Given the description of an element on the screen output the (x, y) to click on. 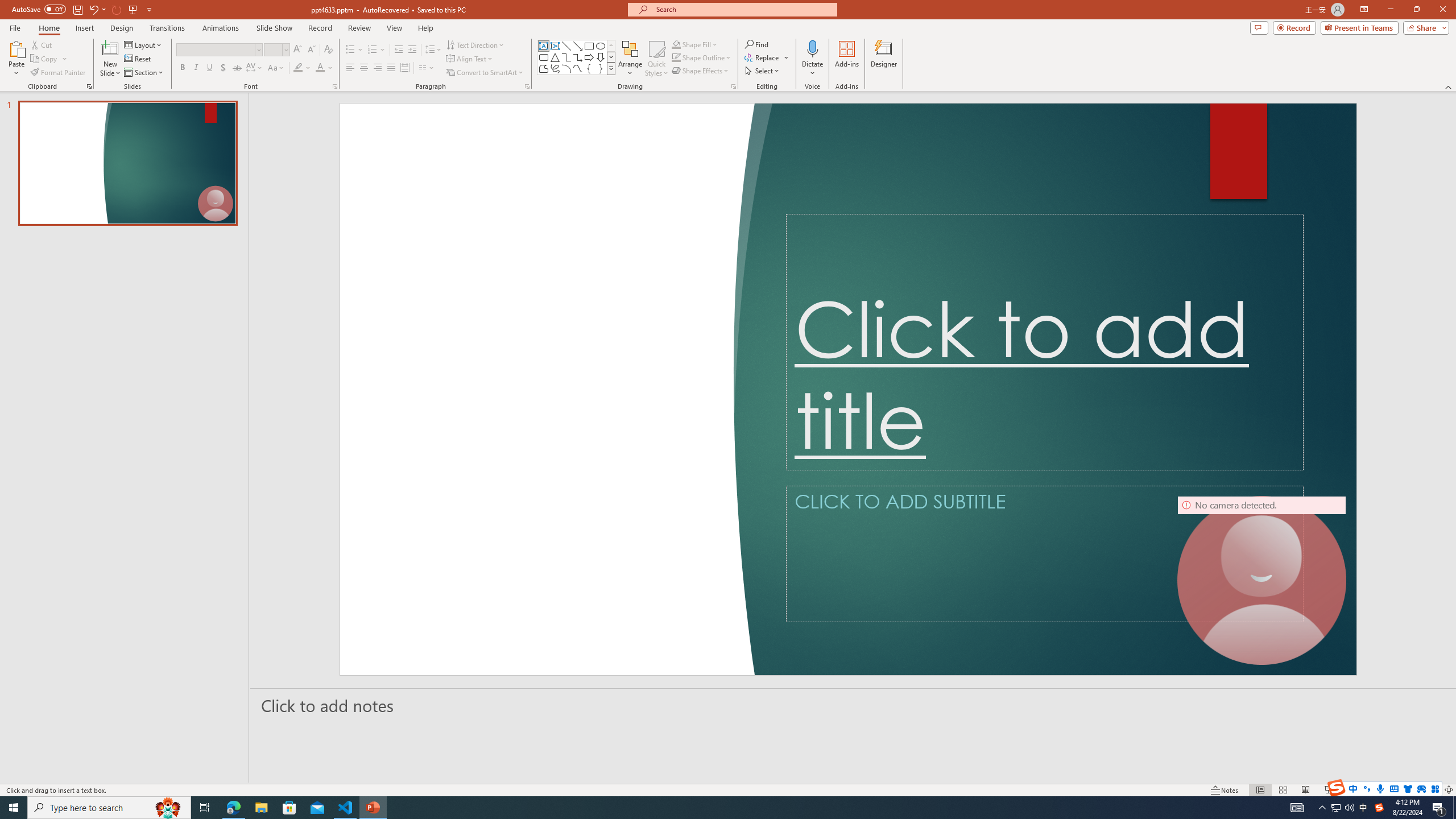
Shape Outline Dark Red, Accent 1 (675, 56)
